Given the description of an element on the screen output the (x, y) to click on. 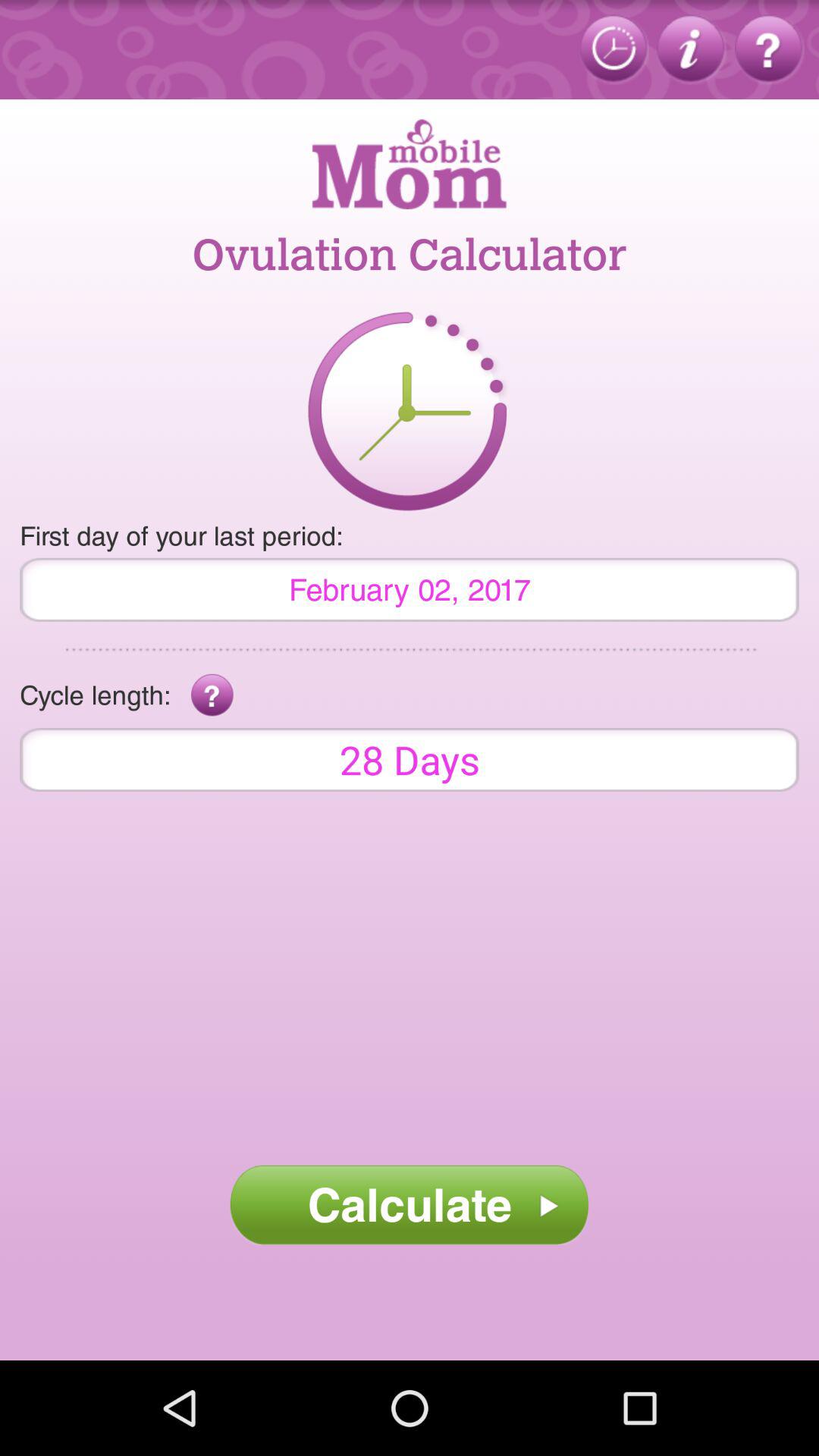
tap item below the first day of item (409, 589)
